Given the description of an element on the screen output the (x, y) to click on. 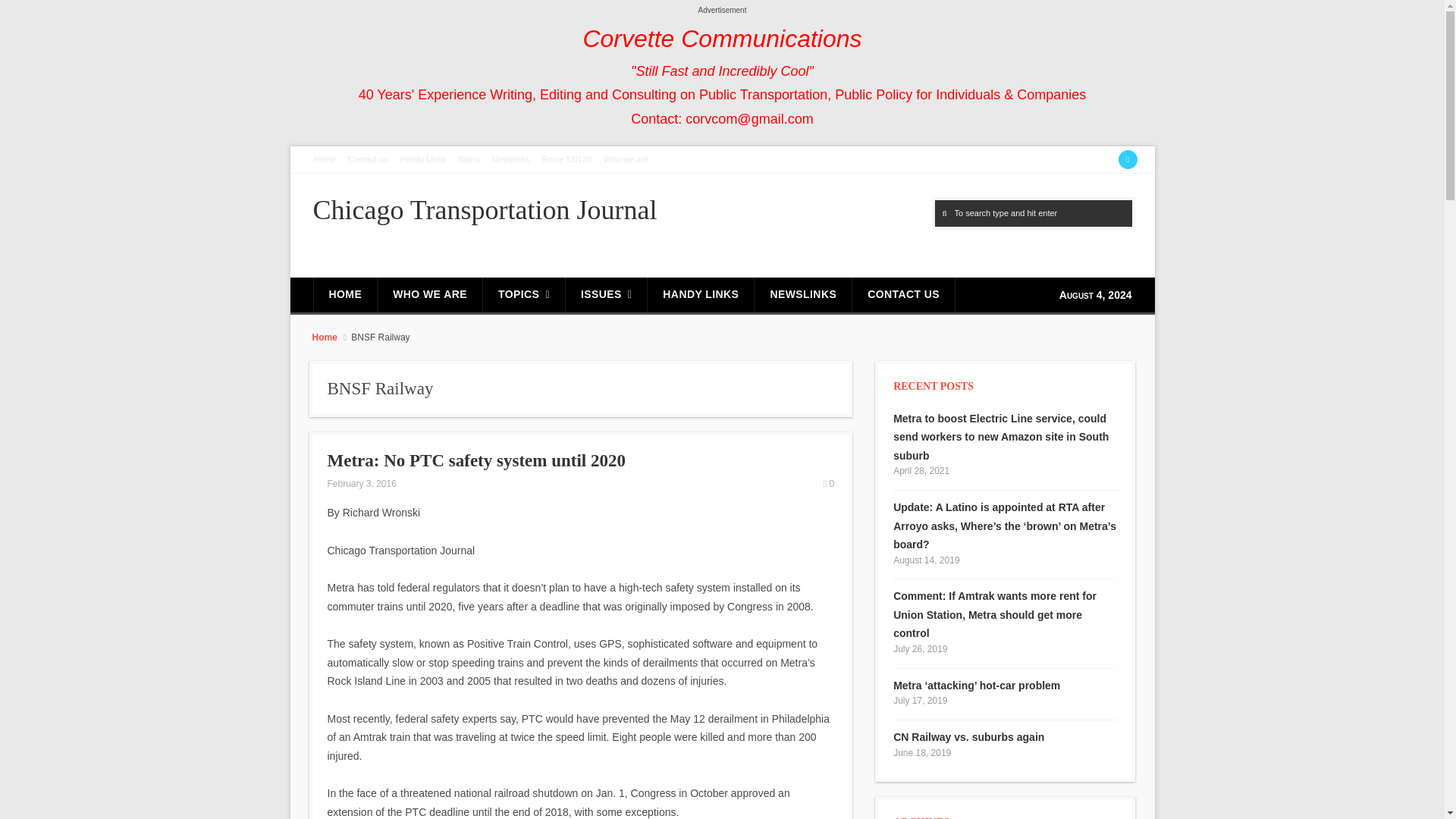
5:42 pm (361, 483)
To search type and hit enter (1032, 212)
WHO WE ARE (429, 295)
Chicago Transportation Journal (484, 209)
Twitter (1127, 158)
Newslinks (510, 159)
HOME (345, 295)
Home (324, 159)
Illiana (468, 159)
TOPICS (523, 295)
Handy Links (422, 159)
Who we are (624, 159)
Contact us (368, 159)
